Given the description of an element on the screen output the (x, y) to click on. 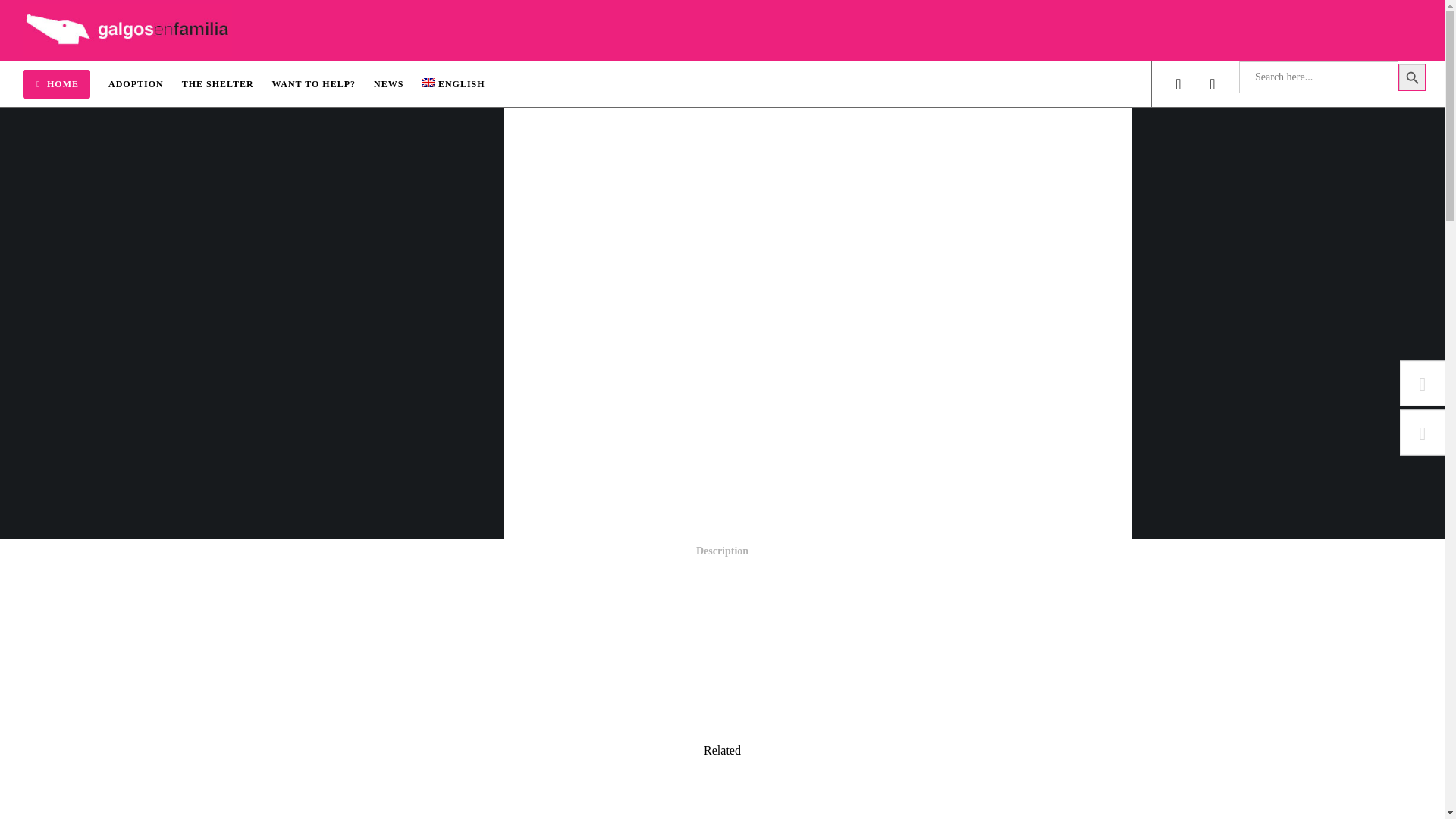
ADOPTION (144, 84)
HOME (65, 84)
THE SHELTER (227, 84)
ENGLISH (462, 84)
English (462, 84)
SEARCH BUTTON (1411, 76)
NEWS (398, 84)
WANT TO HELP? (323, 84)
